Given the description of an element on the screen output the (x, y) to click on. 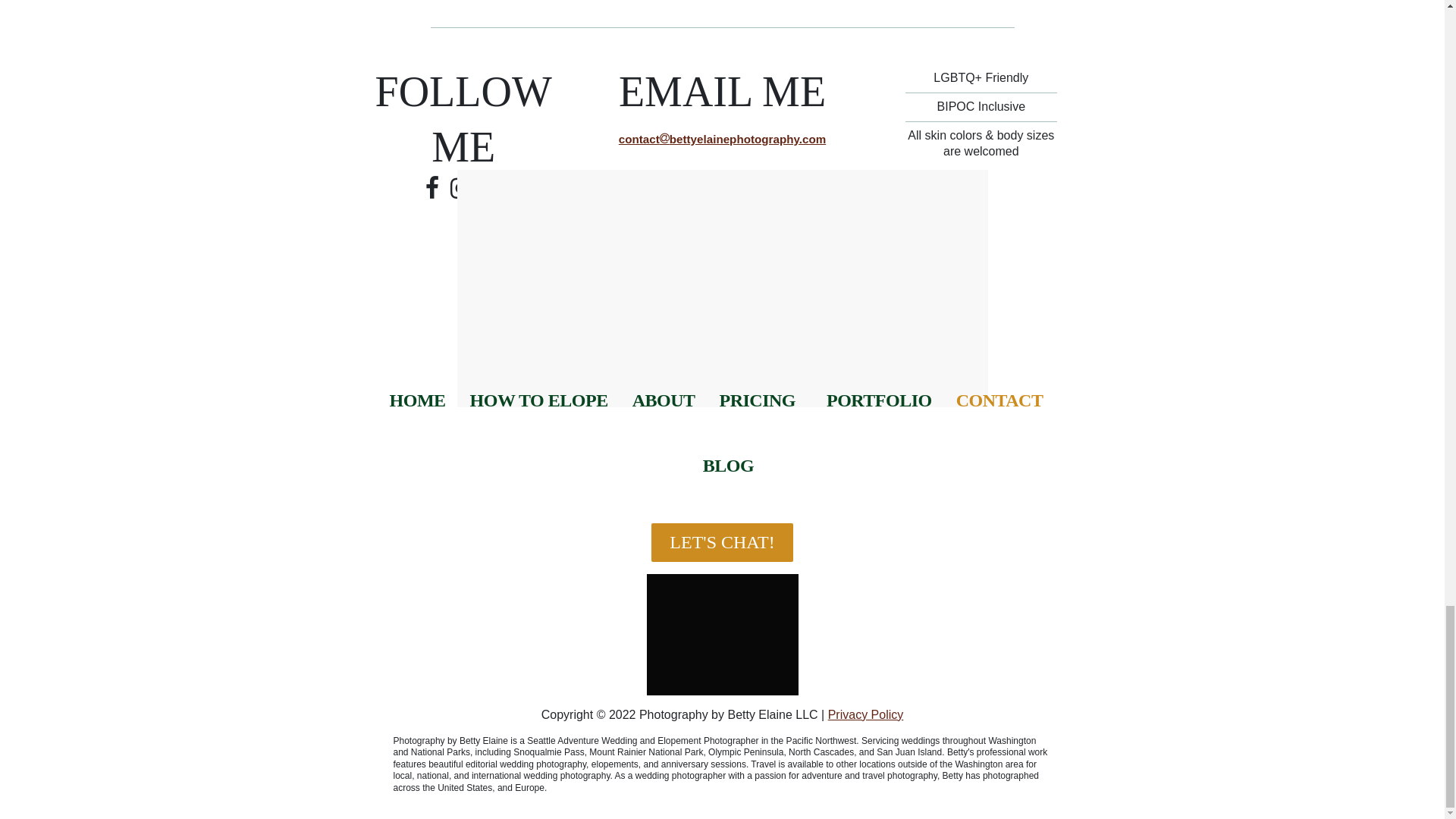
LET'S CHAT! (721, 542)
Privacy Policy (866, 714)
contactbettyelainephotography.com (721, 138)
HOW TO ELOPE (539, 400)
BLOG (728, 465)
ABOUT (663, 400)
PRICING (756, 400)
PORTFOLIO (879, 400)
CONTACT (999, 400)
HOME (417, 400)
